Given the description of an element on the screen output the (x, y) to click on. 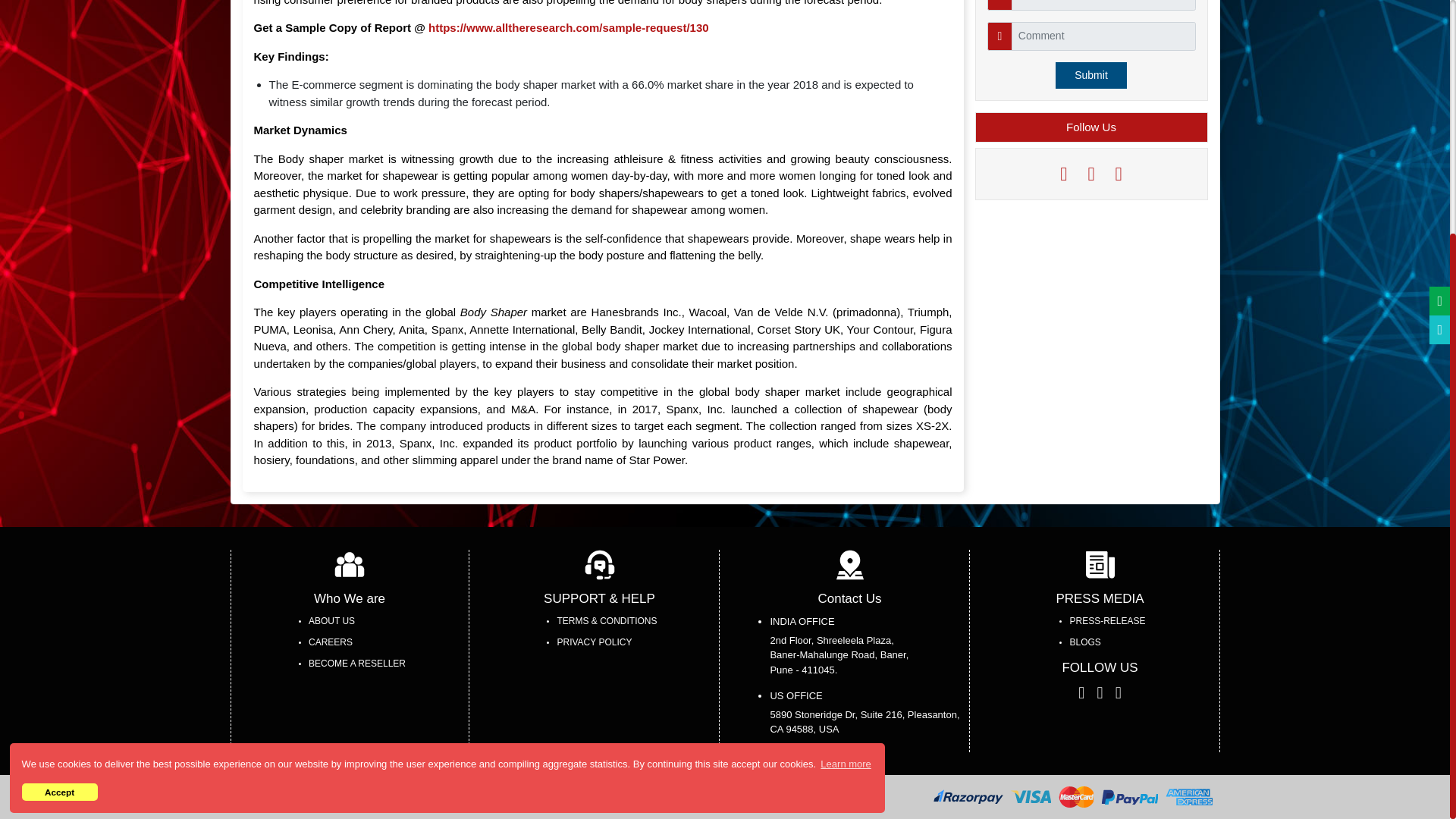
Learn more (845, 436)
Accept (59, 465)
